Given the description of an element on the screen output the (x, y) to click on. 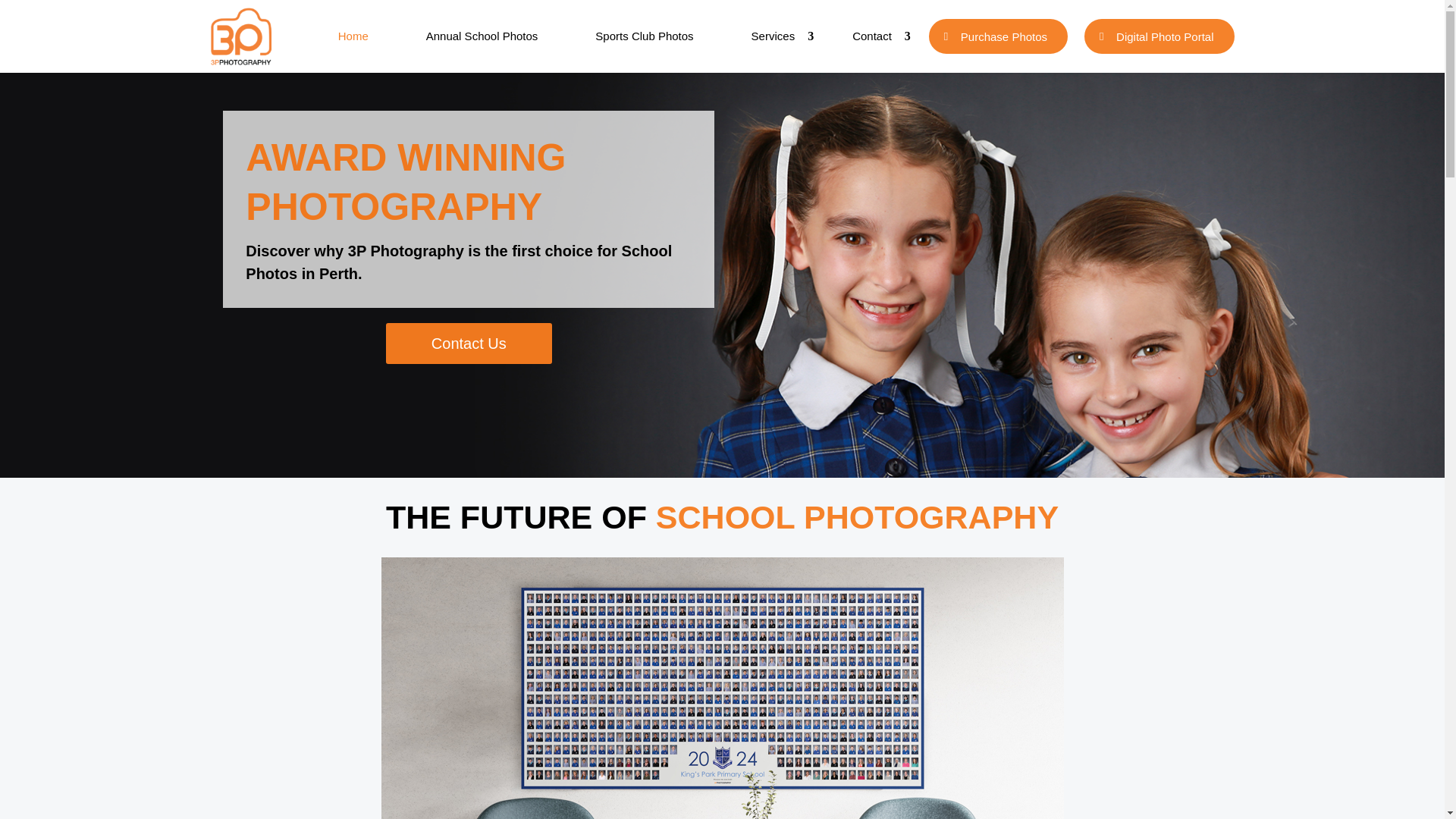
Home (352, 36)
Digital Photo Portal (1158, 36)
Sports Club Photos (644, 36)
Purchase Photos (997, 36)
Annual School Photos (482, 36)
Services (772, 36)
Contact (871, 36)
